Given the description of an element on the screen output the (x, y) to click on. 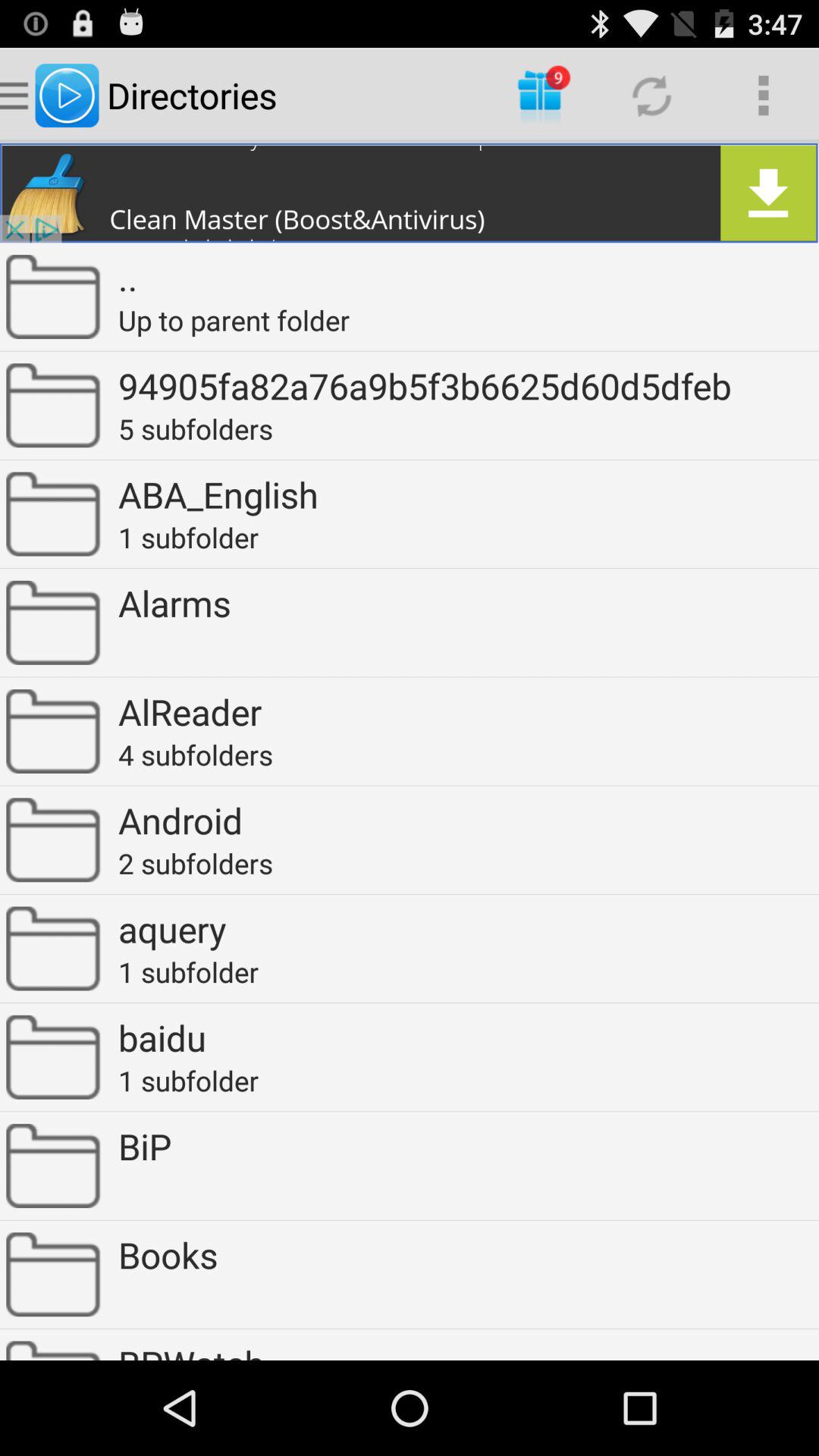
advertisement (409, 192)
